Given the description of an element on the screen output the (x, y) to click on. 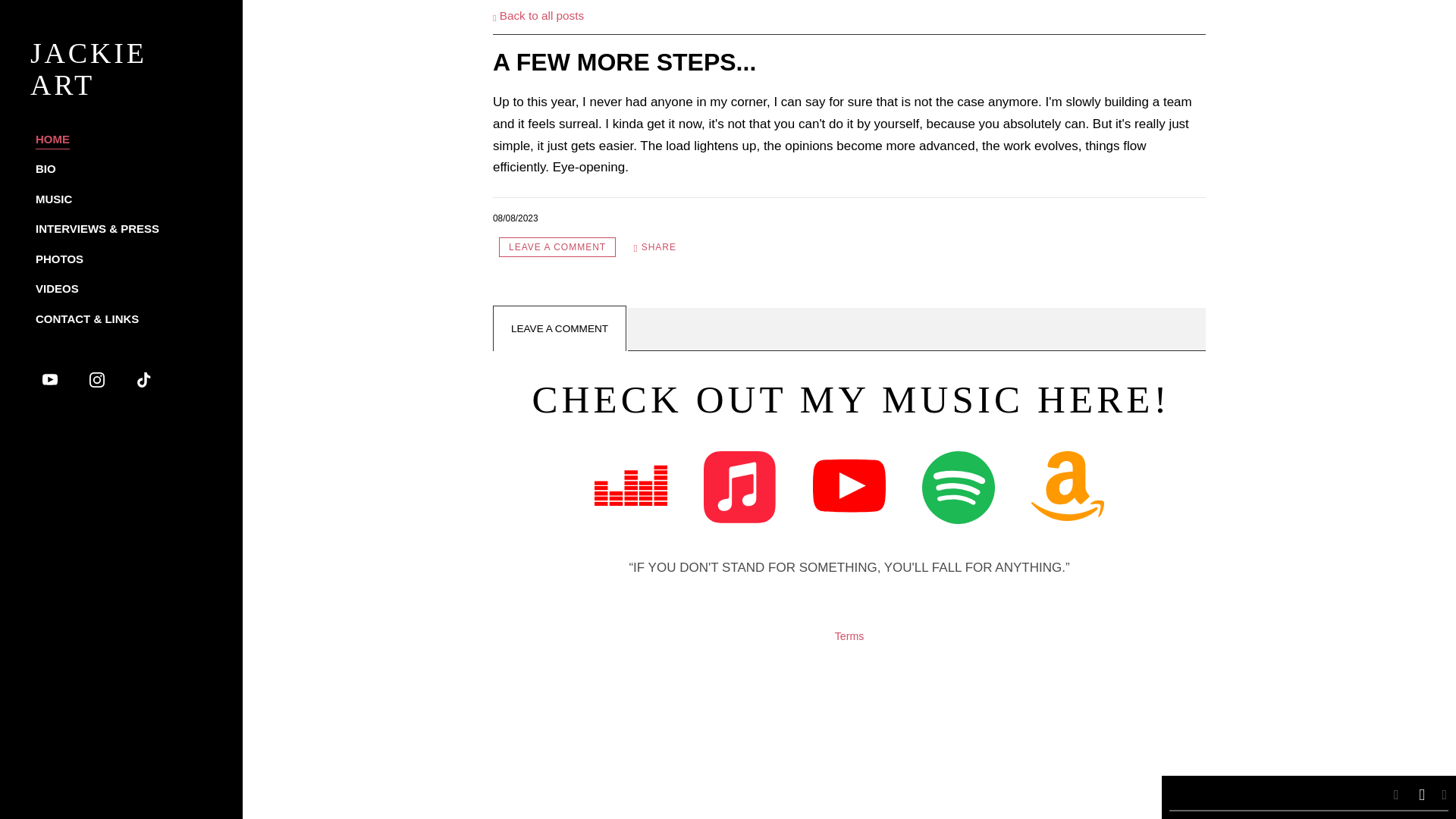
BIO (45, 168)
PHOTOS (58, 259)
MUSIC (52, 199)
Leave a comment (557, 247)
Terms (849, 635)
HOME (51, 139)
SHARE (654, 247)
Share A few more steps... (654, 247)
VIDEOS (56, 288)
JACKIE ART (121, 87)
